Given the description of an element on the screen output the (x, y) to click on. 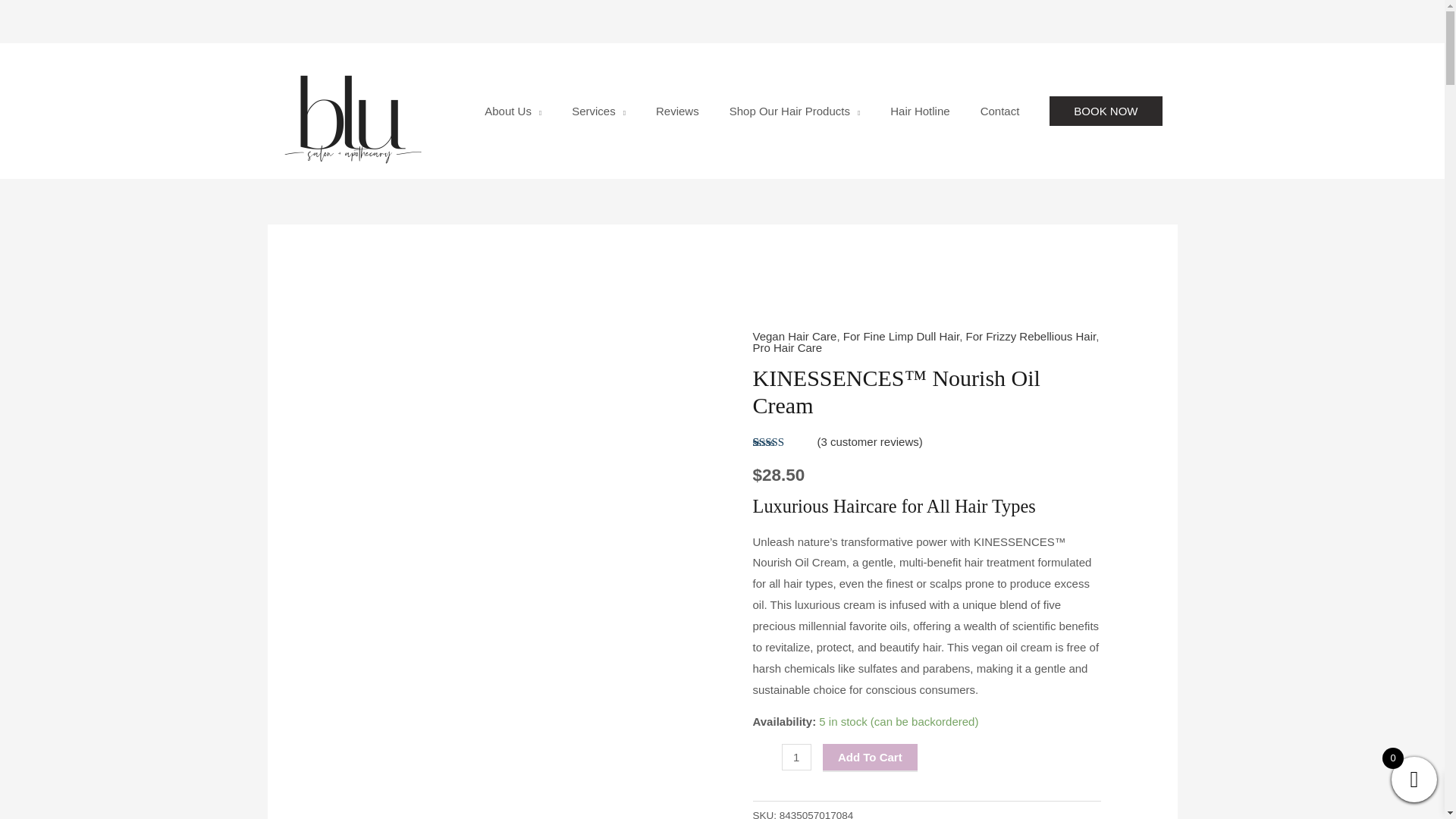
Shop Our Hair Products (795, 110)
About Us (512, 110)
BOOK NOW (1105, 111)
Vegan Hair Care (793, 336)
Contact (1000, 110)
Services (598, 110)
Reviews (677, 110)
Hair Hotline (919, 110)
1 (795, 756)
